Given the description of an element on the screen output the (x, y) to click on. 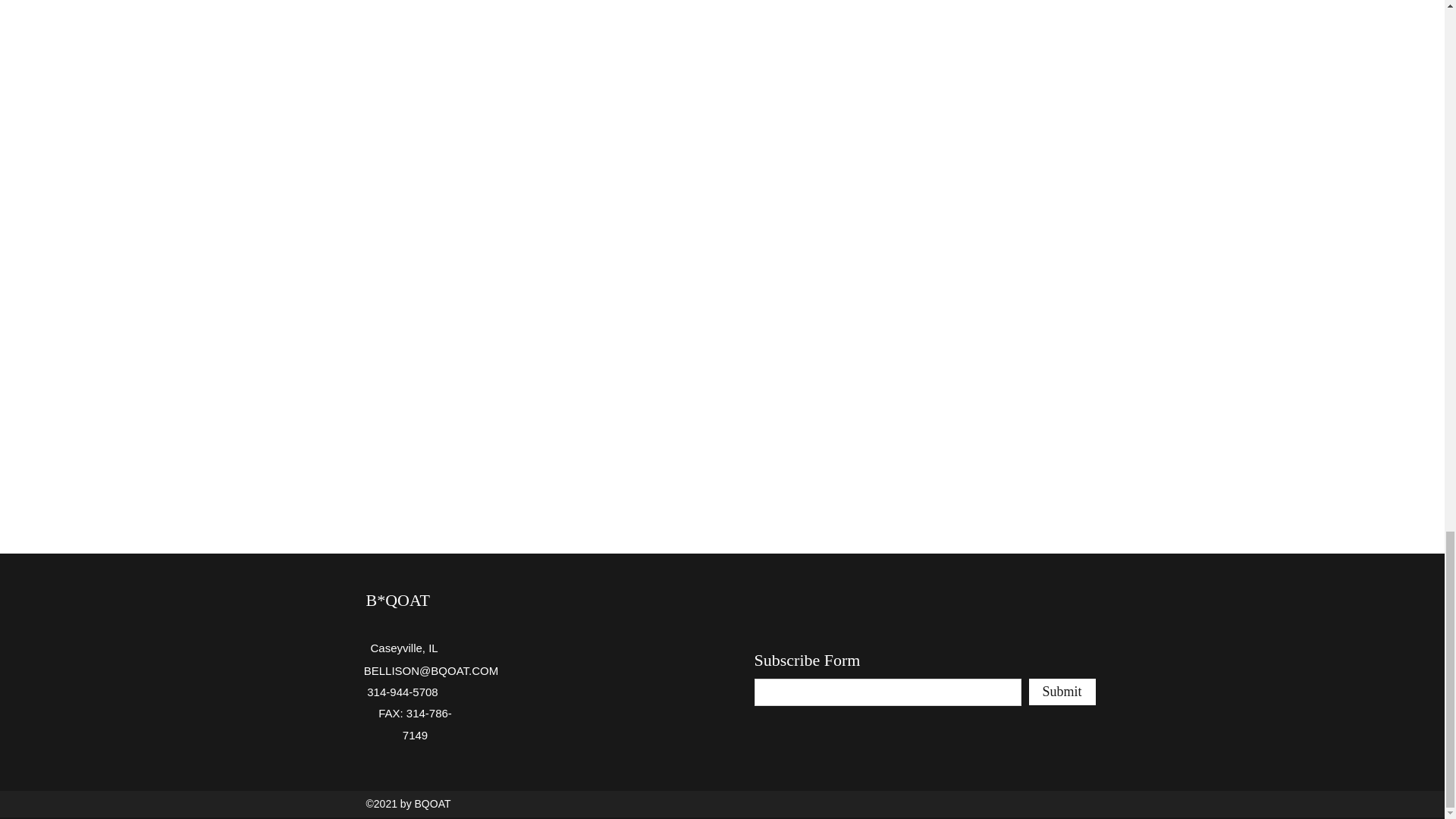
Submit (1060, 691)
